Given the description of an element on the screen output the (x, y) to click on. 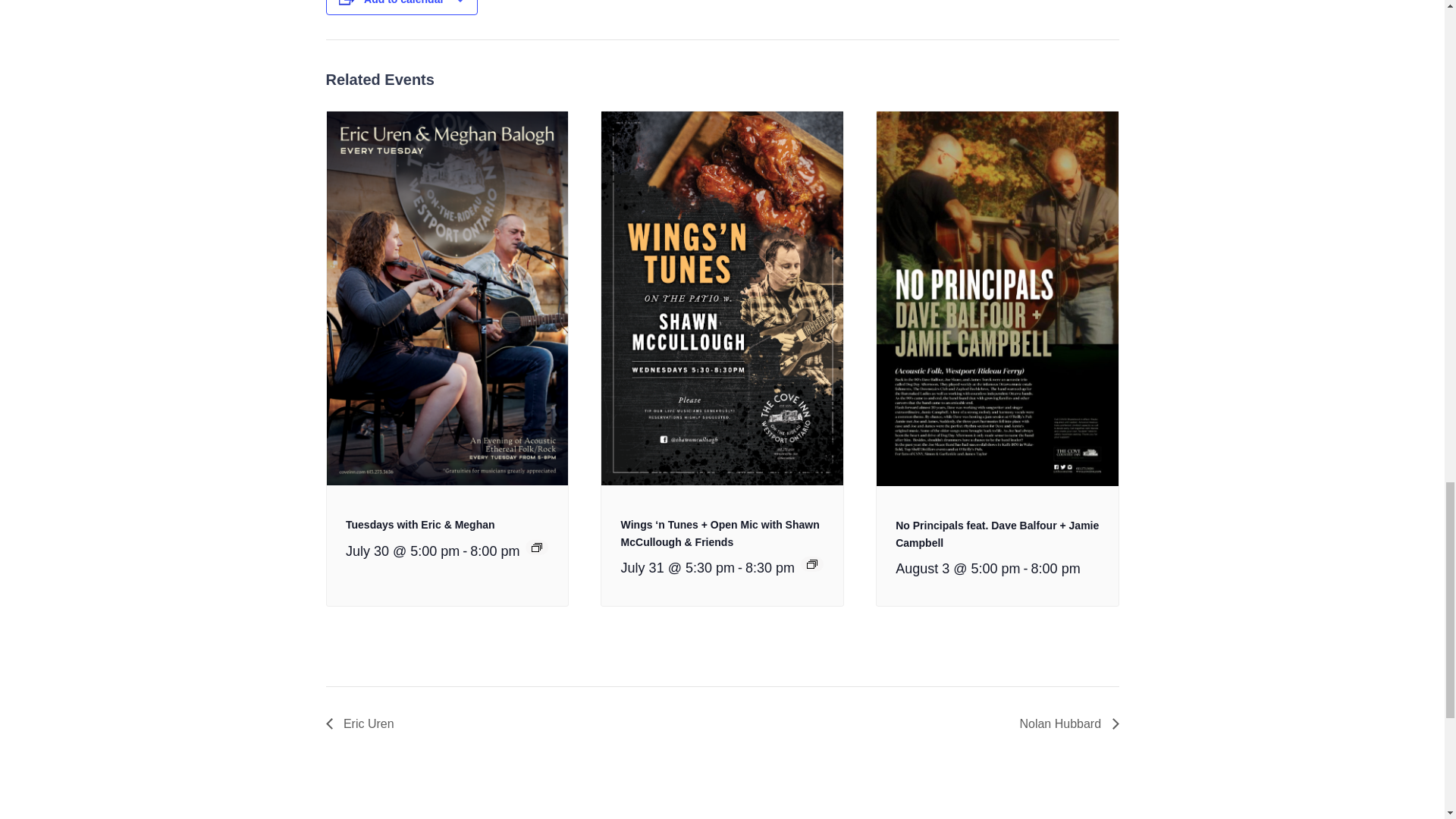
Event Series (536, 547)
Event Series (811, 563)
Add to calendar (404, 2)
